Given the description of an element on the screen output the (x, y) to click on. 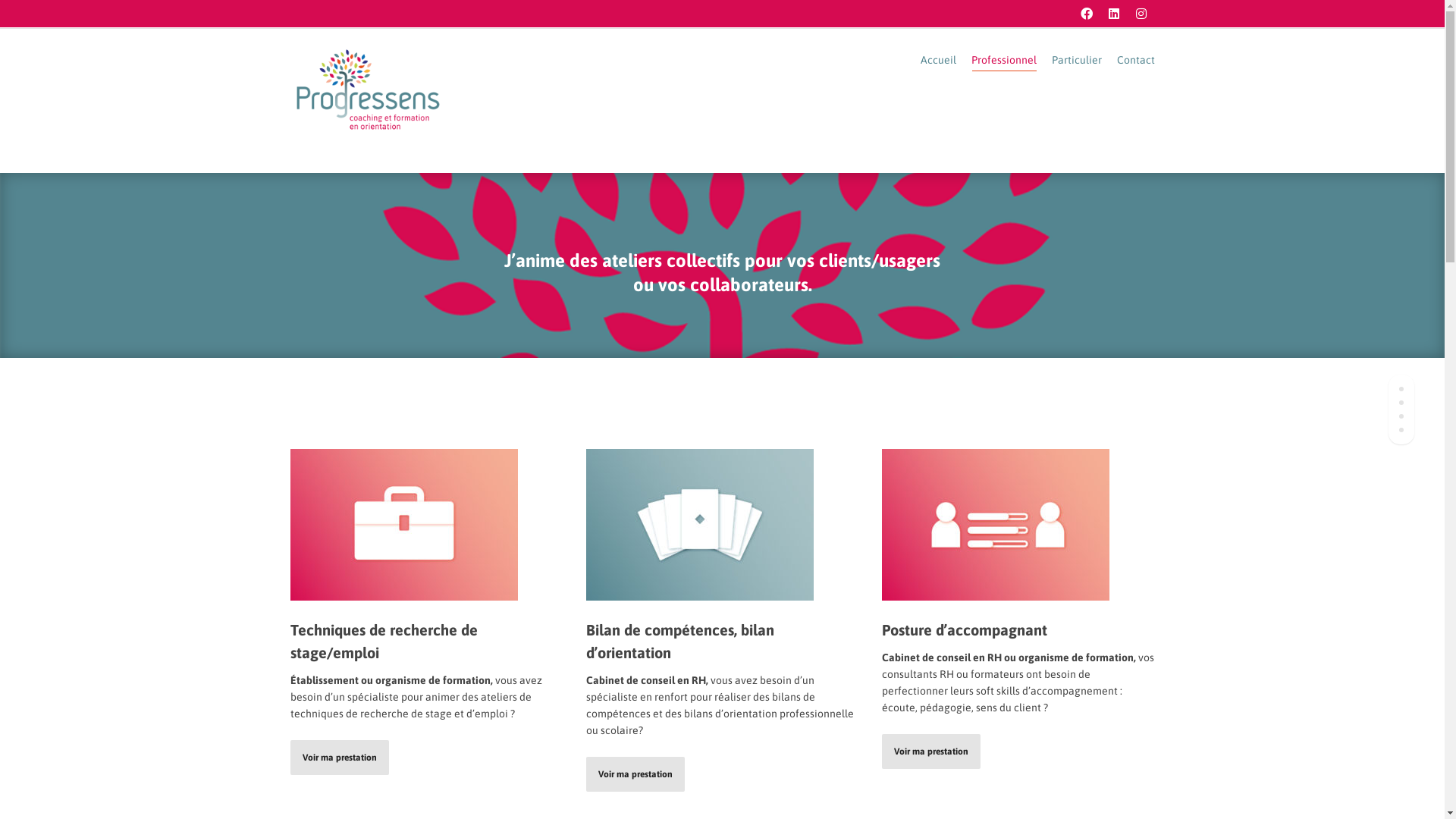
Accueil Element type: text (938, 60)
Voir ma prestation Element type: text (634, 773)
Professionnel Element type: text (1002, 60)
Voir ma prestation Element type: text (930, 751)
Contact Element type: text (1135, 60)
Particulier Element type: text (1076, 60)
Voir ma prestation Element type: text (338, 757)
